Given the description of an element on the screen output the (x, y) to click on. 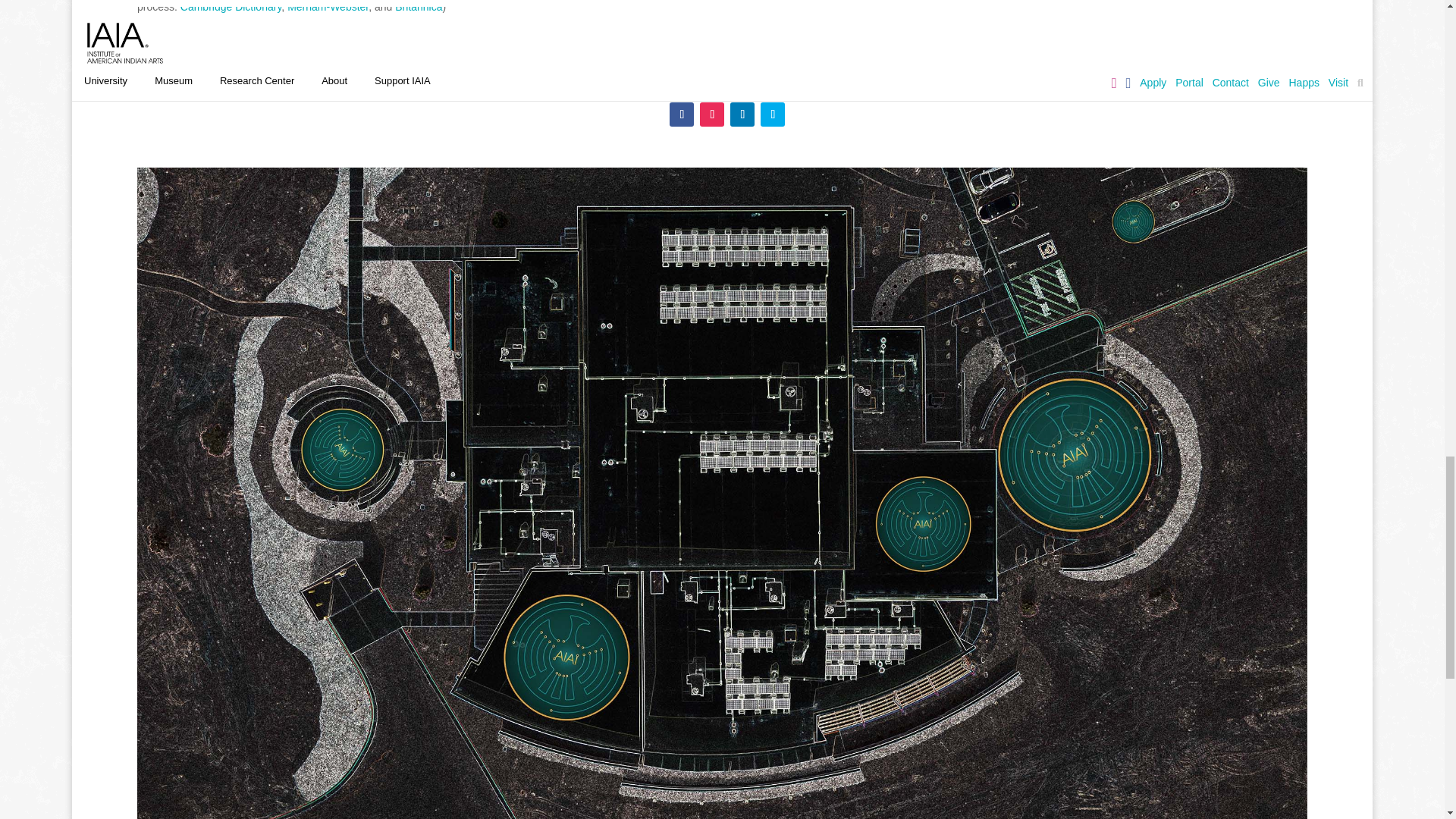
Follow on Facebook (681, 114)
Follow on LinkedIn (742, 114)
Follow on Instagram (711, 114)
Follow on Twitter (772, 114)
